Given the description of an element on the screen output the (x, y) to click on. 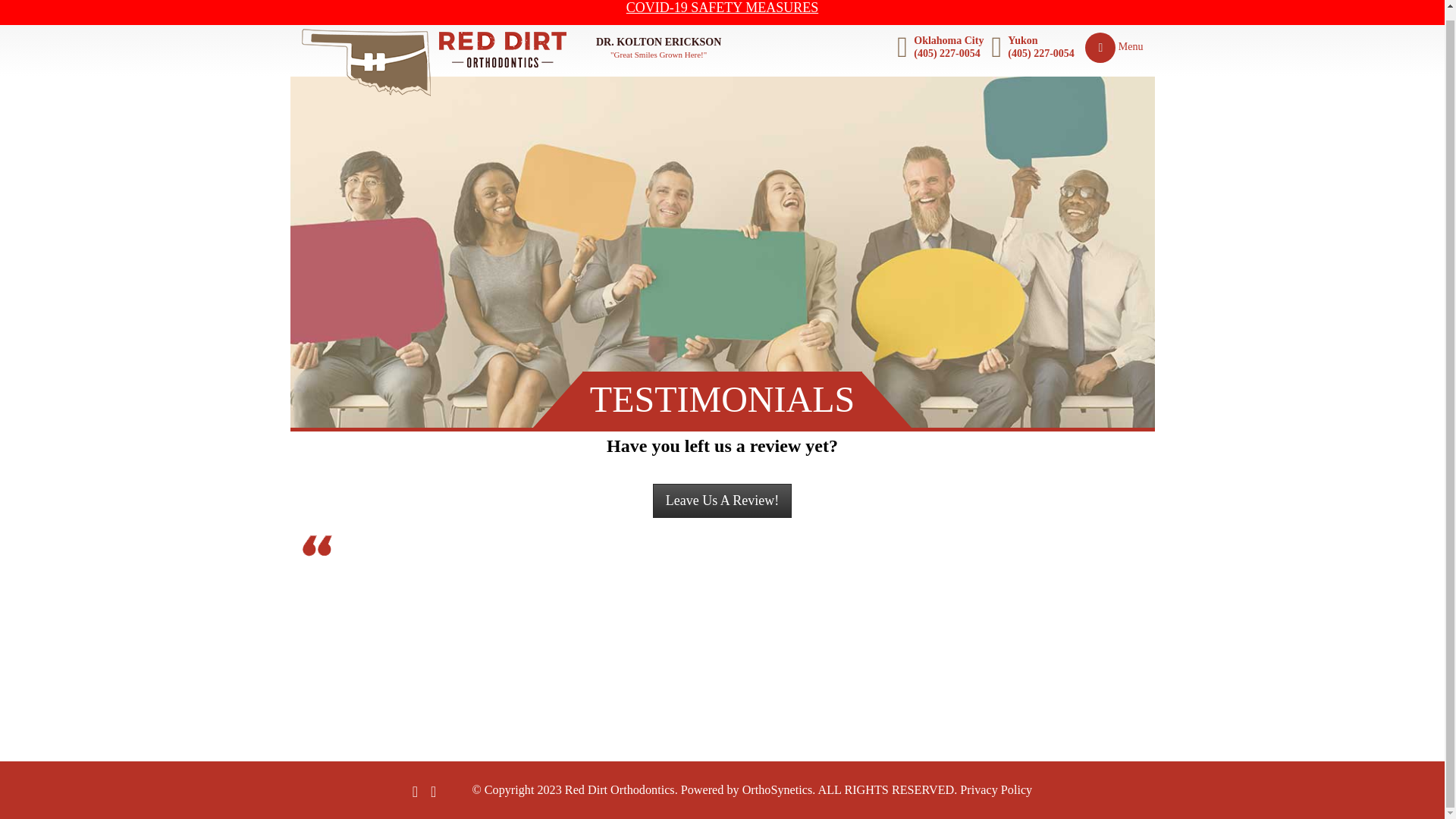
Red Dirt Orthodontics -  (433, 62)
OrthoSynetics (777, 789)
Privacy Policy (995, 789)
quote (316, 545)
Leave Us A Review! (722, 500)
